Given the description of an element on the screen output the (x, y) to click on. 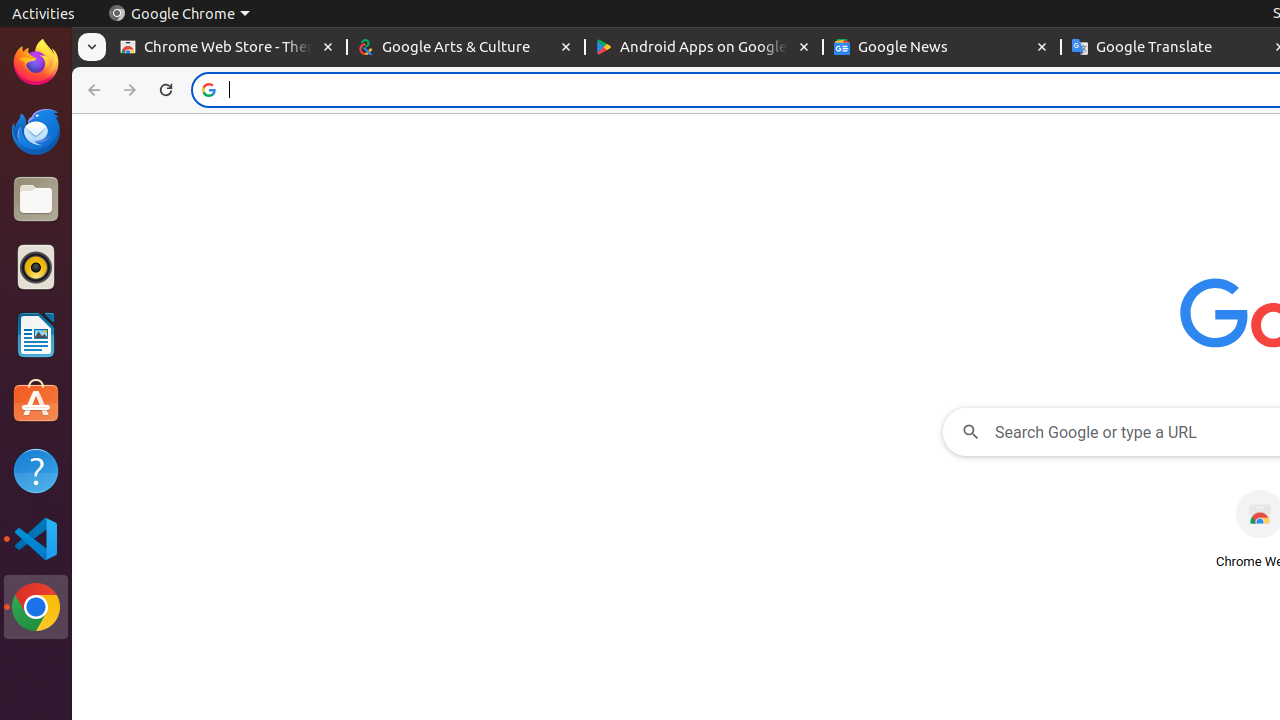
Google News - Memory usage - 49.7 MB Element type: page-tab (942, 47)
Reload Element type: push-button (166, 90)
Forward Element type: push-button (130, 90)
Firefox Web Browser Element type: push-button (36, 63)
Files Element type: push-button (36, 199)
